Given the description of an element on the screen output the (x, y) to click on. 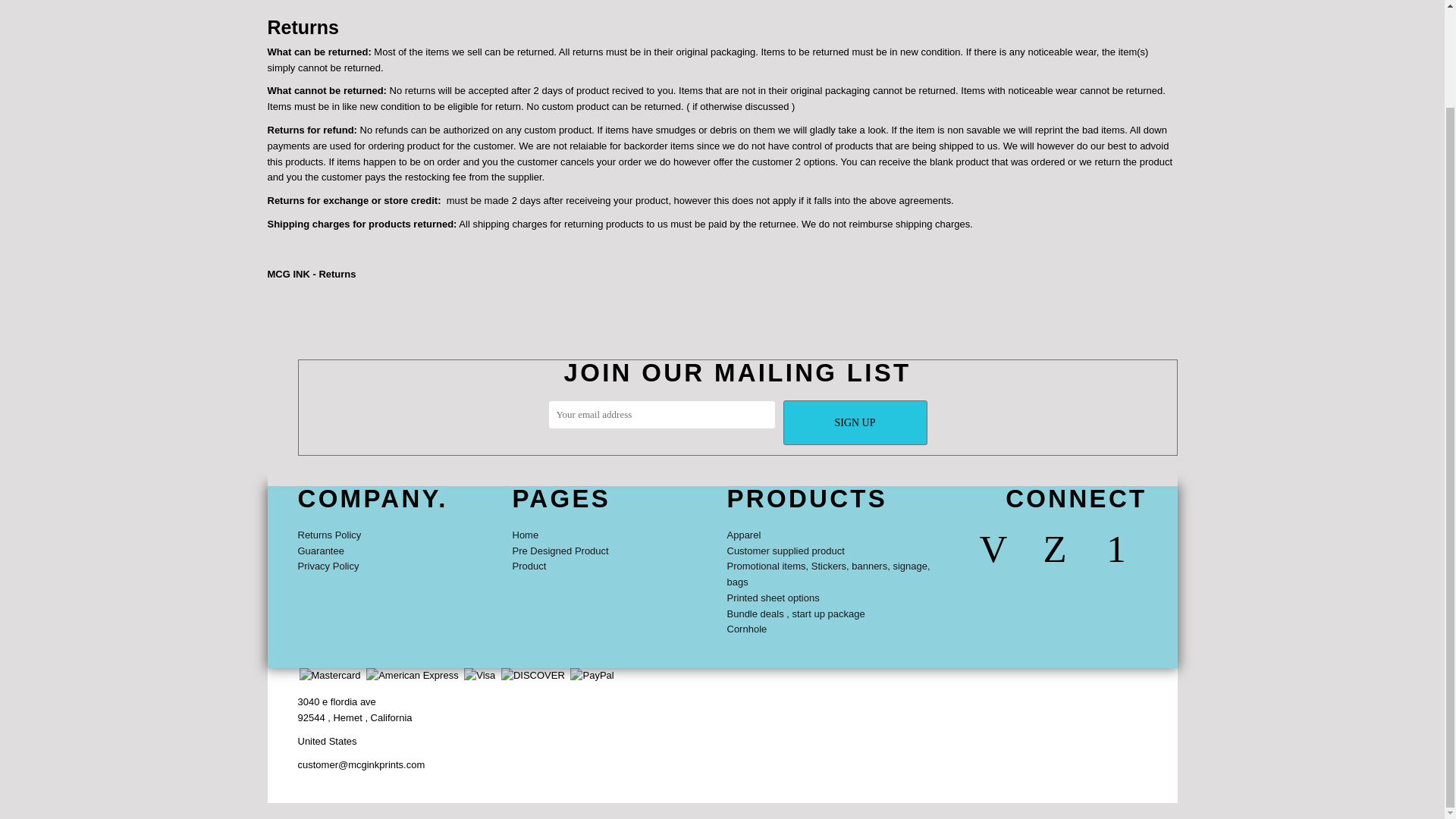
Returns Policy (329, 534)
Apparel (743, 534)
Printed sheet options (772, 597)
Pre Designed Product (560, 550)
Guarantee (320, 550)
Cornhole (746, 628)
Customer supplied product (785, 550)
Home (525, 534)
Promotional items, Stickers, banners, signage, bags (828, 574)
Privacy Policy (327, 565)
Bundle deals , start up package (795, 613)
Product (529, 565)
